Given the description of an element on the screen output the (x, y) to click on. 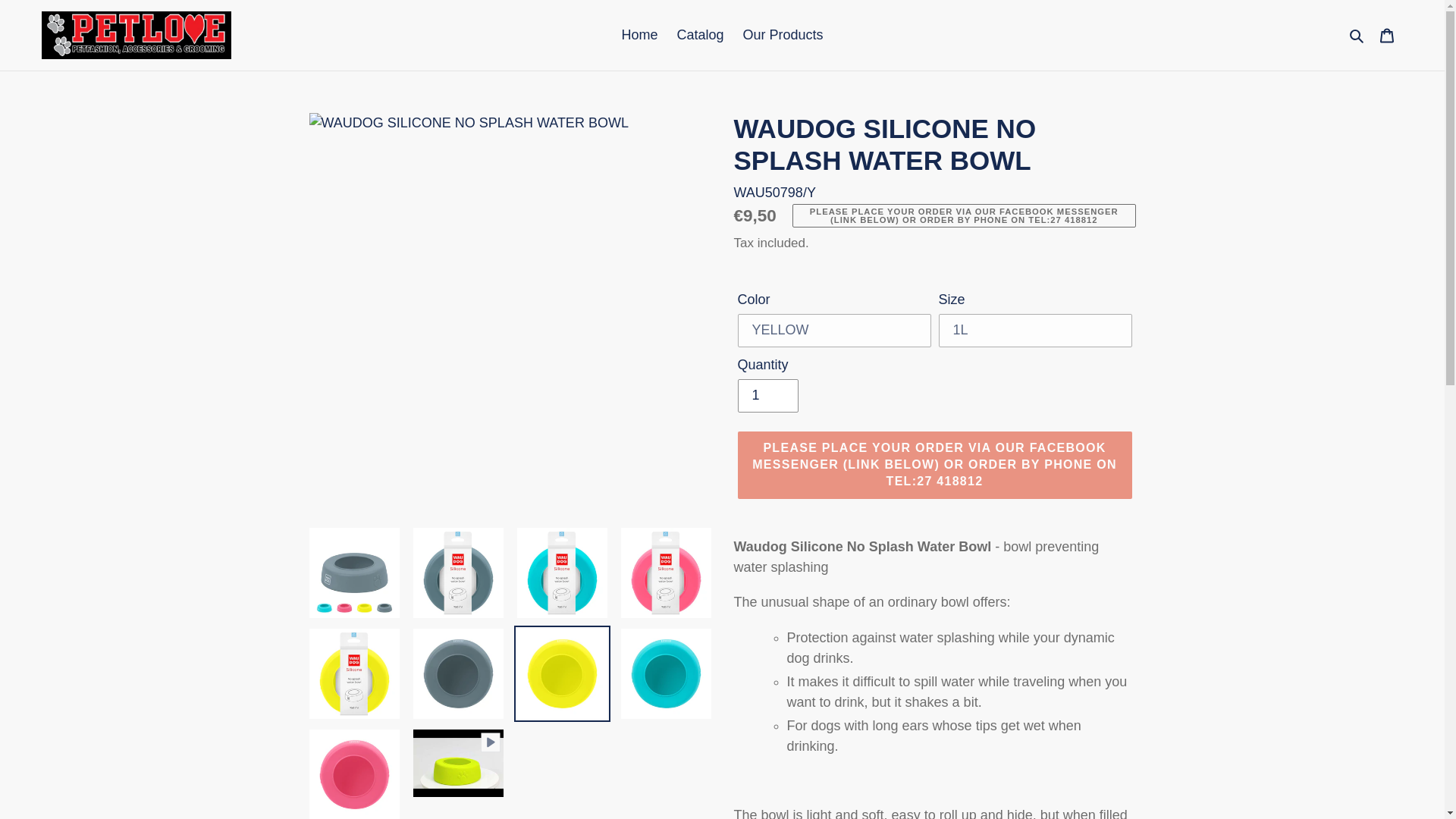
Cart (1387, 35)
1 (766, 395)
Catalog (699, 34)
Search (1357, 34)
Home (638, 34)
Our Products (783, 34)
